Given the description of an element on the screen output the (x, y) to click on. 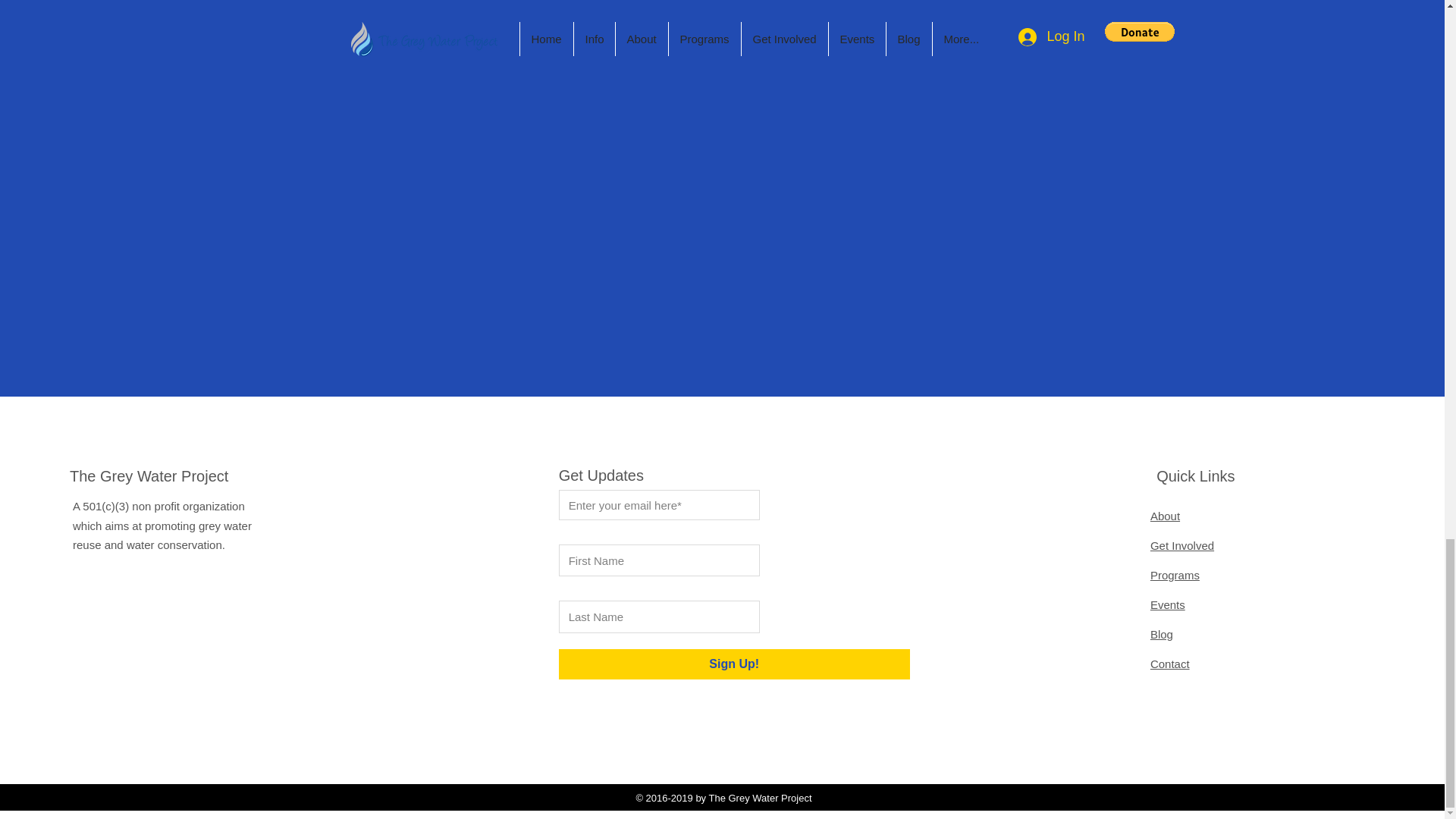
About (1164, 515)
Get Involved (1182, 545)
Blog (1161, 634)
Events (1167, 604)
Programs (1174, 574)
Contact (1169, 663)
Sign Up! (734, 664)
